Given the description of an element on the screen output the (x, y) to click on. 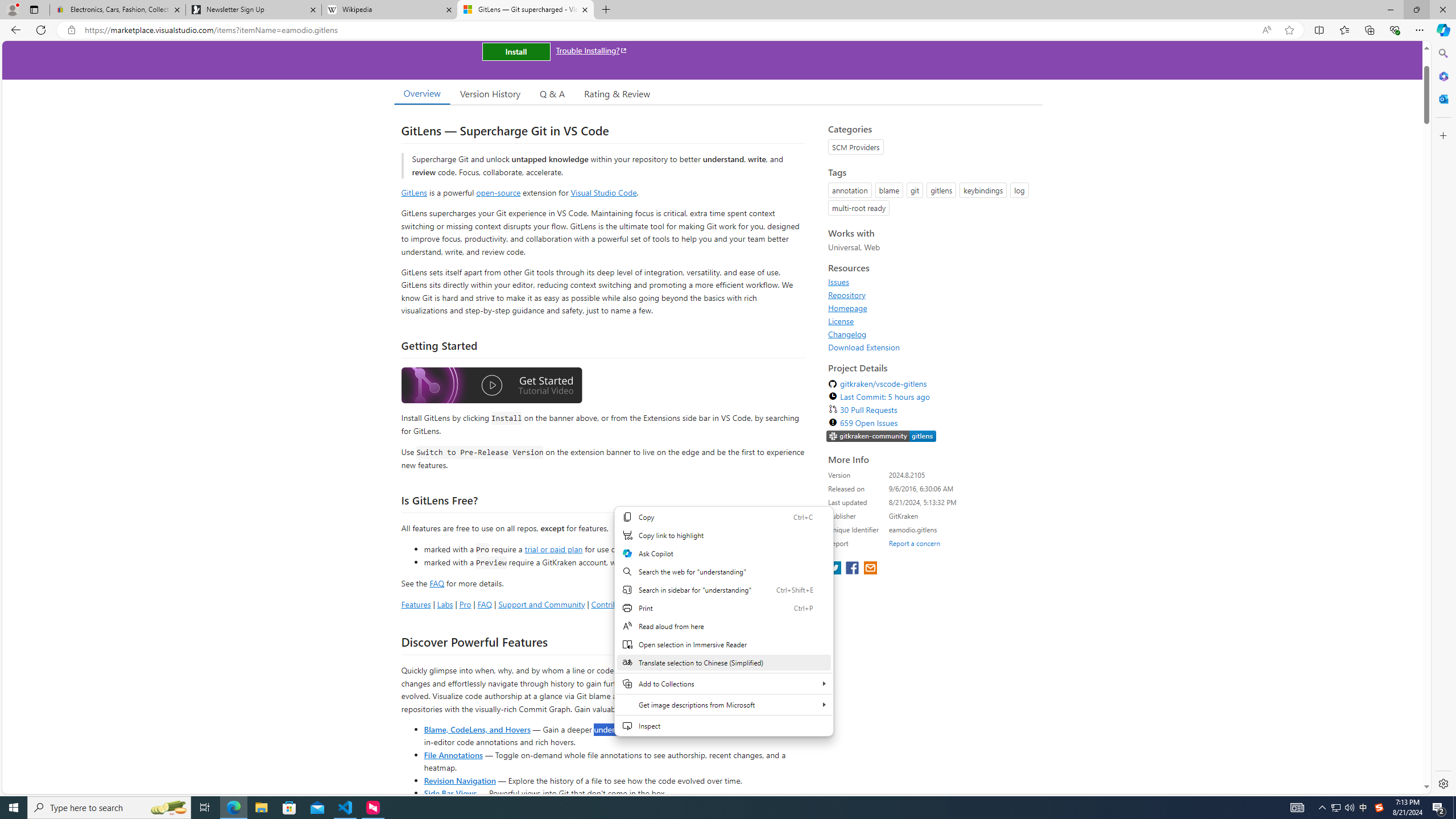
Web context (724, 628)
https://slack.gitkraken.com// (881, 436)
Copy link to highlight (723, 534)
https://slack.gitkraken.com// (881, 436)
Blame, CodeLens, and Hovers (476, 728)
Download Extension (931, 346)
Rating & Review (618, 92)
Install (515, 51)
